Given the description of an element on the screen output the (x, y) to click on. 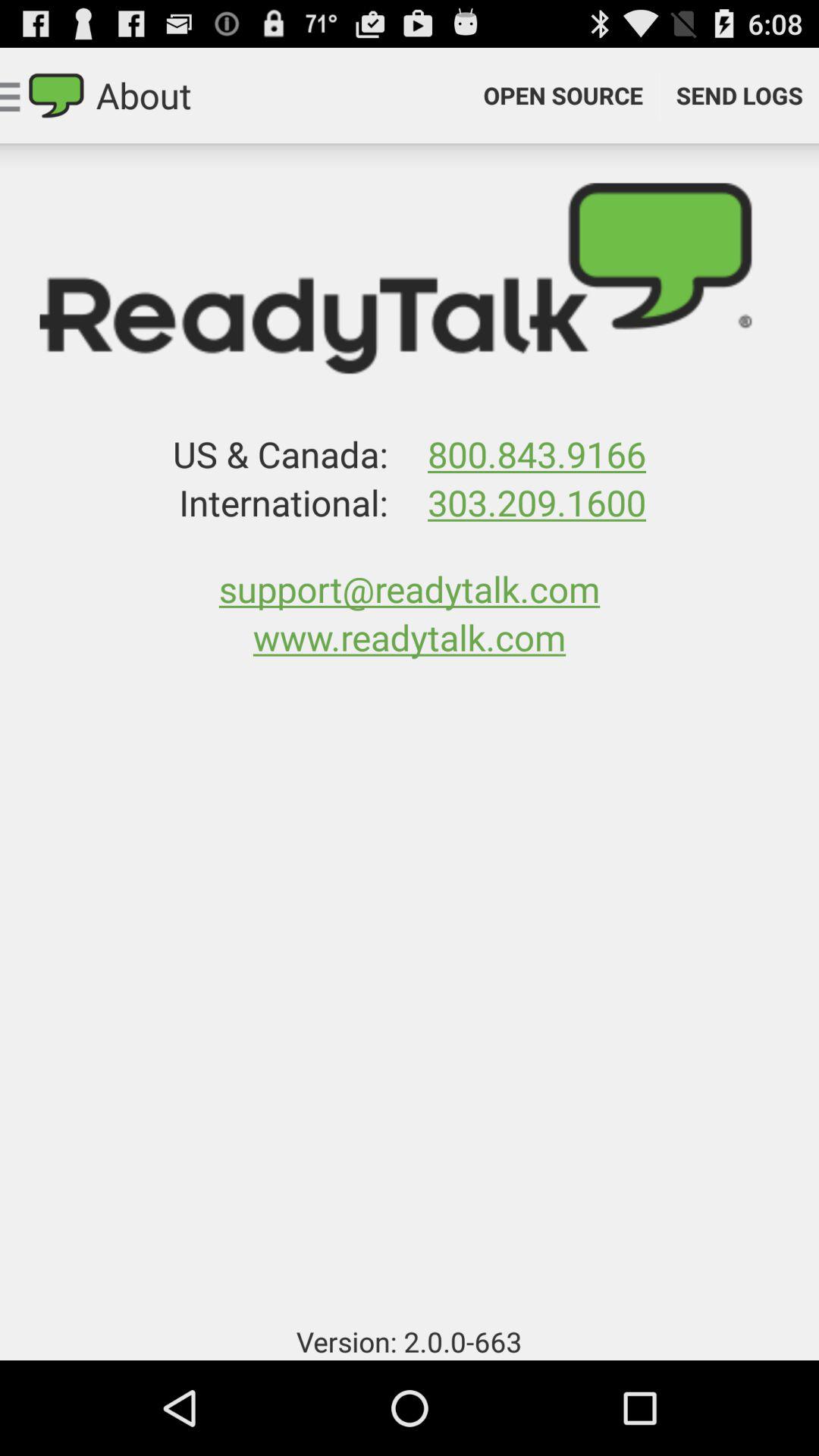
choose 303.209.1600 app (536, 502)
